Given the description of an element on the screen output the (x, y) to click on. 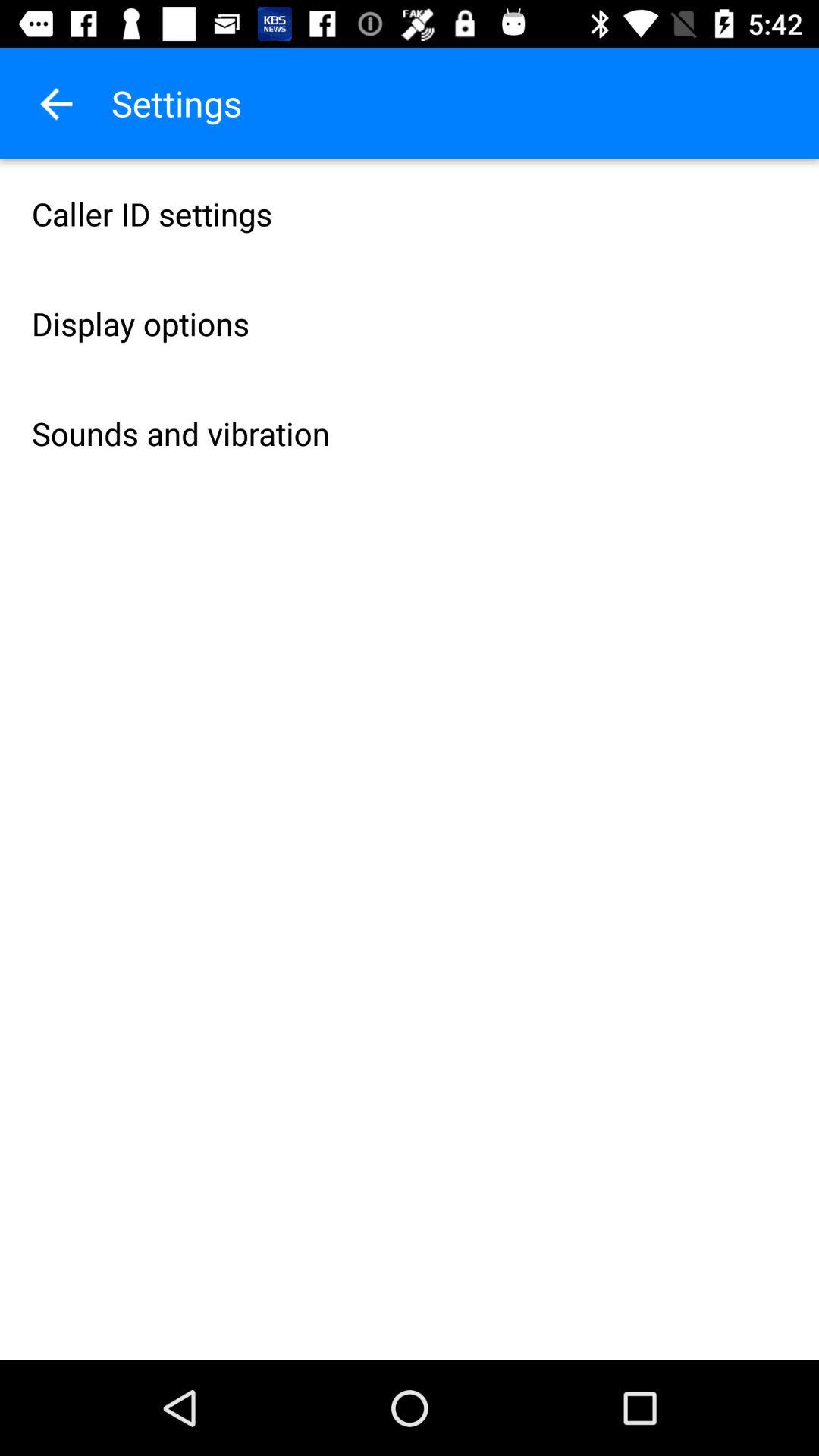
press item to the left of settings icon (55, 103)
